Given the description of an element on the screen output the (x, y) to click on. 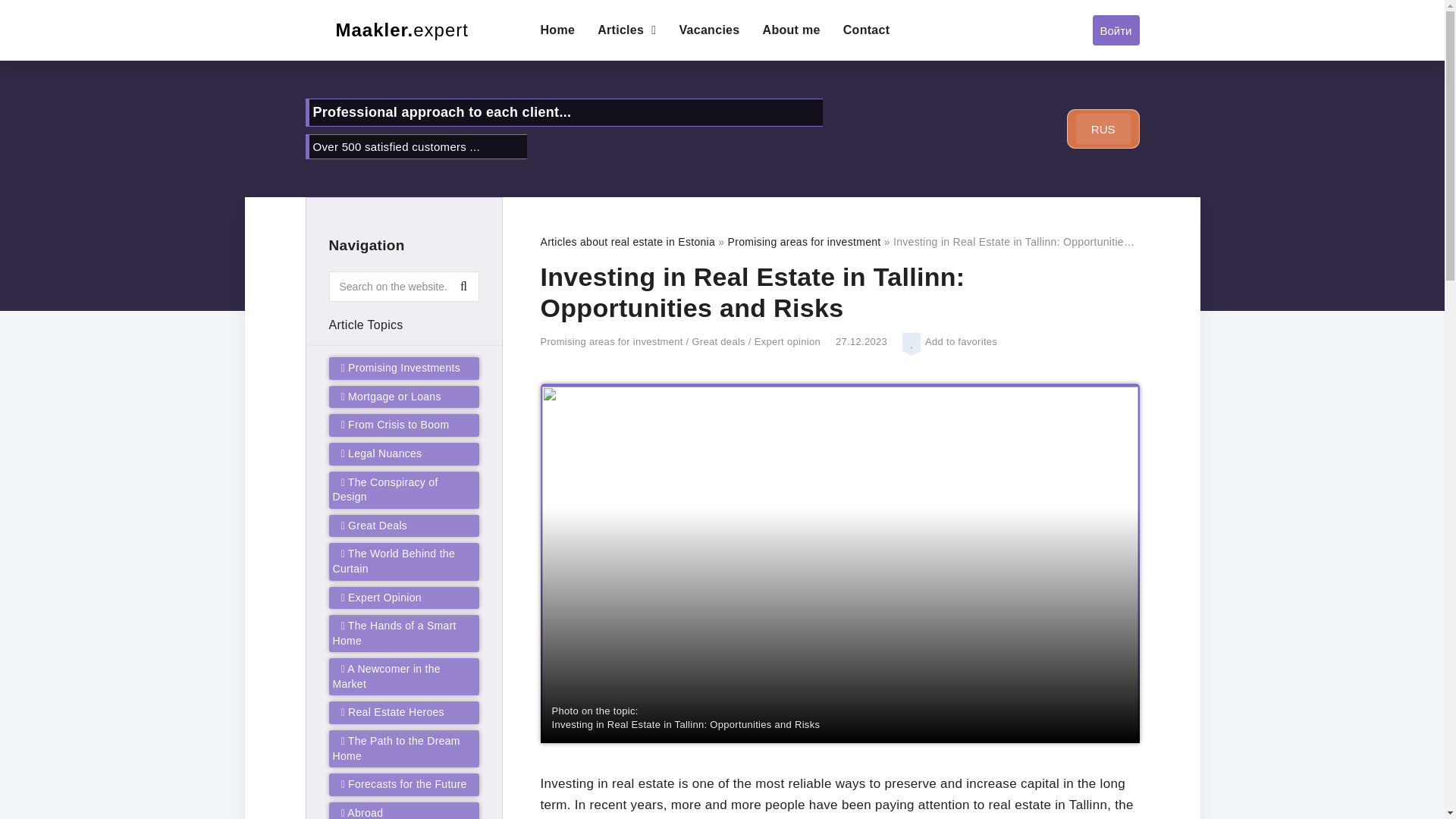
Maakler.expert (410, 30)
Great Deals (373, 525)
The Conspiracy of Design (384, 489)
From Crisis to Boom (394, 424)
RUS (1103, 128)
About me (791, 30)
Articles (626, 30)
Add to favorites (913, 343)
Mortgage or Loans (390, 396)
Legal Nuances (381, 453)
Promising areas for investment (804, 241)
Articles about real estate in Estonia (627, 241)
Promising Investments (400, 367)
Vacancies (708, 30)
